Given the description of an element on the screen output the (x, y) to click on. 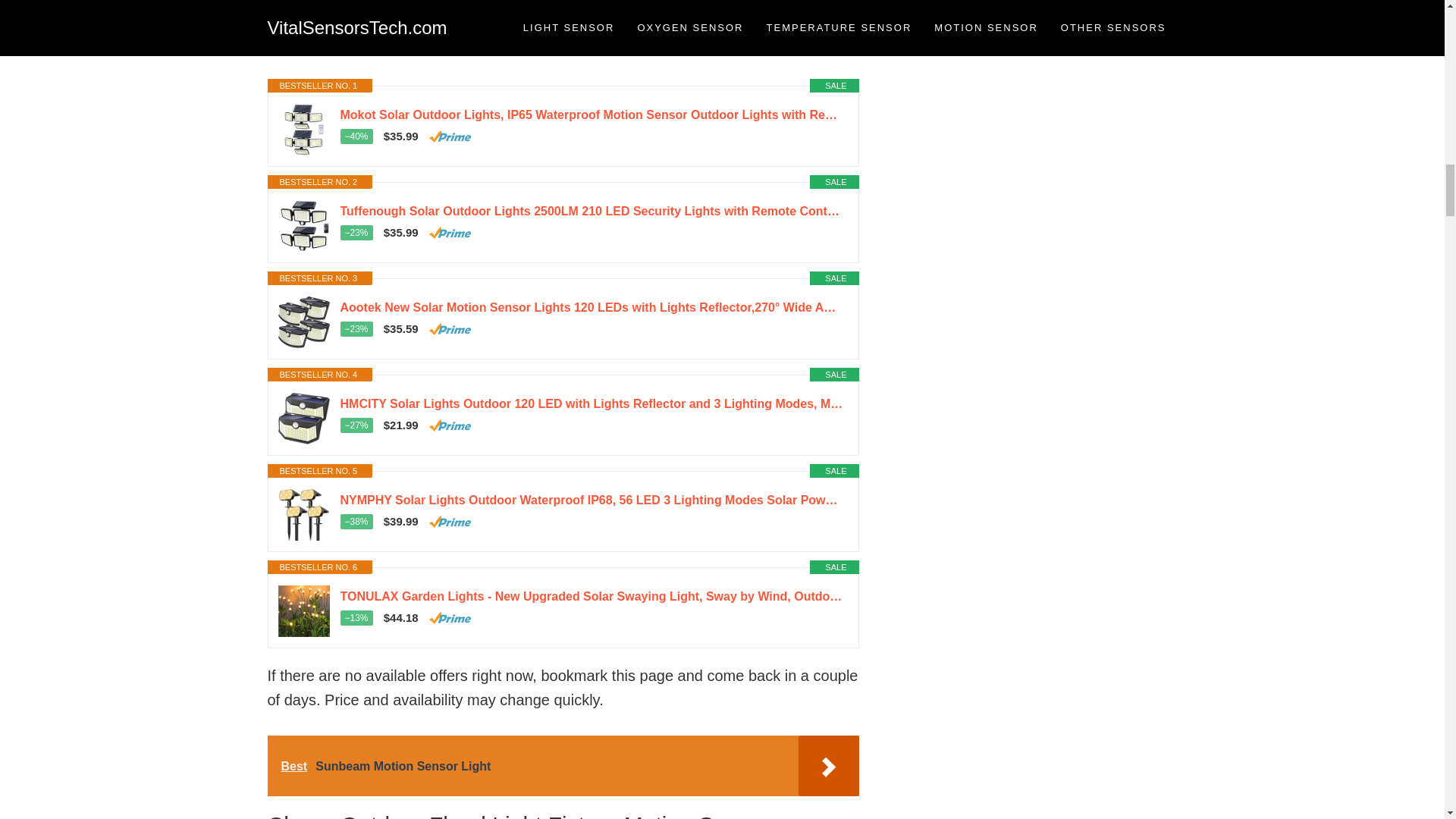
Amazon Prime (449, 136)
